Given the description of an element on the screen output the (x, y) to click on. 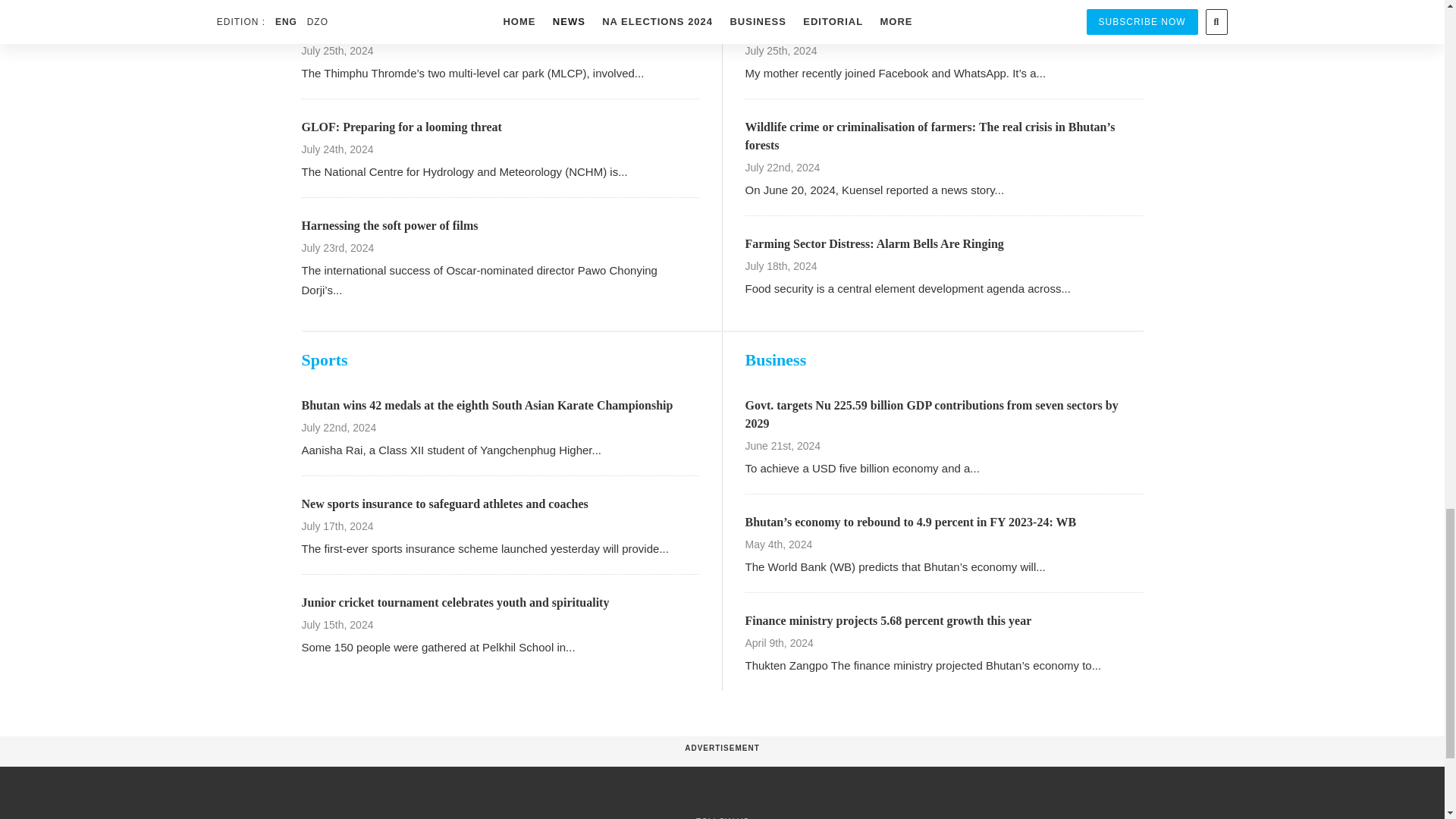
A big white elephant in the city? (384, 28)
New sports insurance to safeguard athletes and coaches (444, 503)
Harnessing the soft power of films (390, 225)
Junior cricket tournament celebrates youth and spirituality (455, 602)
Is social media becoming a nuisance in Bhutan? (867, 28)
GLOF: Preparing for a looming threat (401, 126)
Finance ministry projects 5.68 percent growth this year (887, 620)
Farming Sector Distress: Alarm Bells Are Ringing (873, 243)
